Given the description of an element on the screen output the (x, y) to click on. 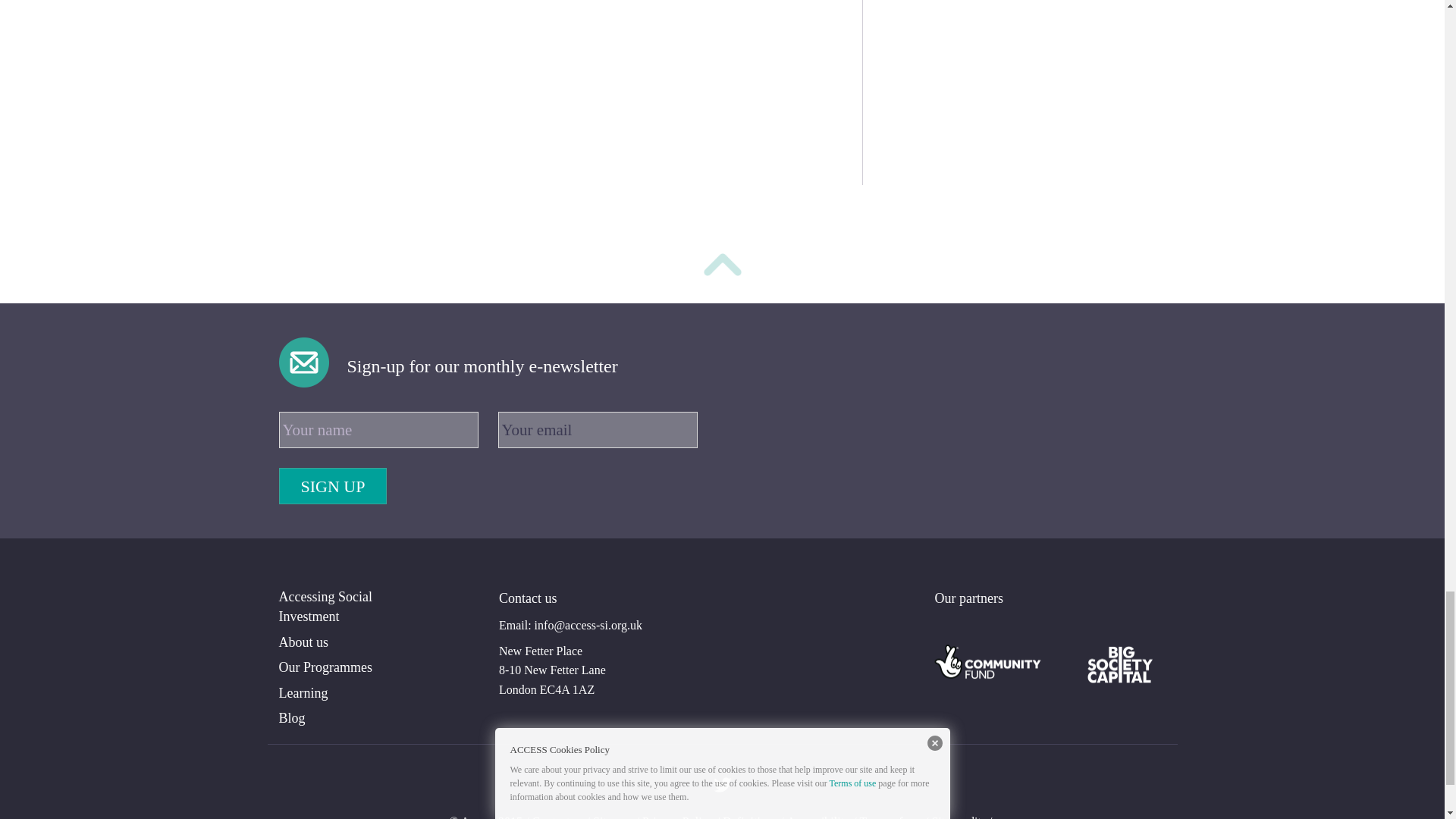
back to top (722, 266)
Your email (597, 429)
Your name (379, 429)
SIGN UP (333, 485)
